Given the description of an element on the screen output the (x, y) to click on. 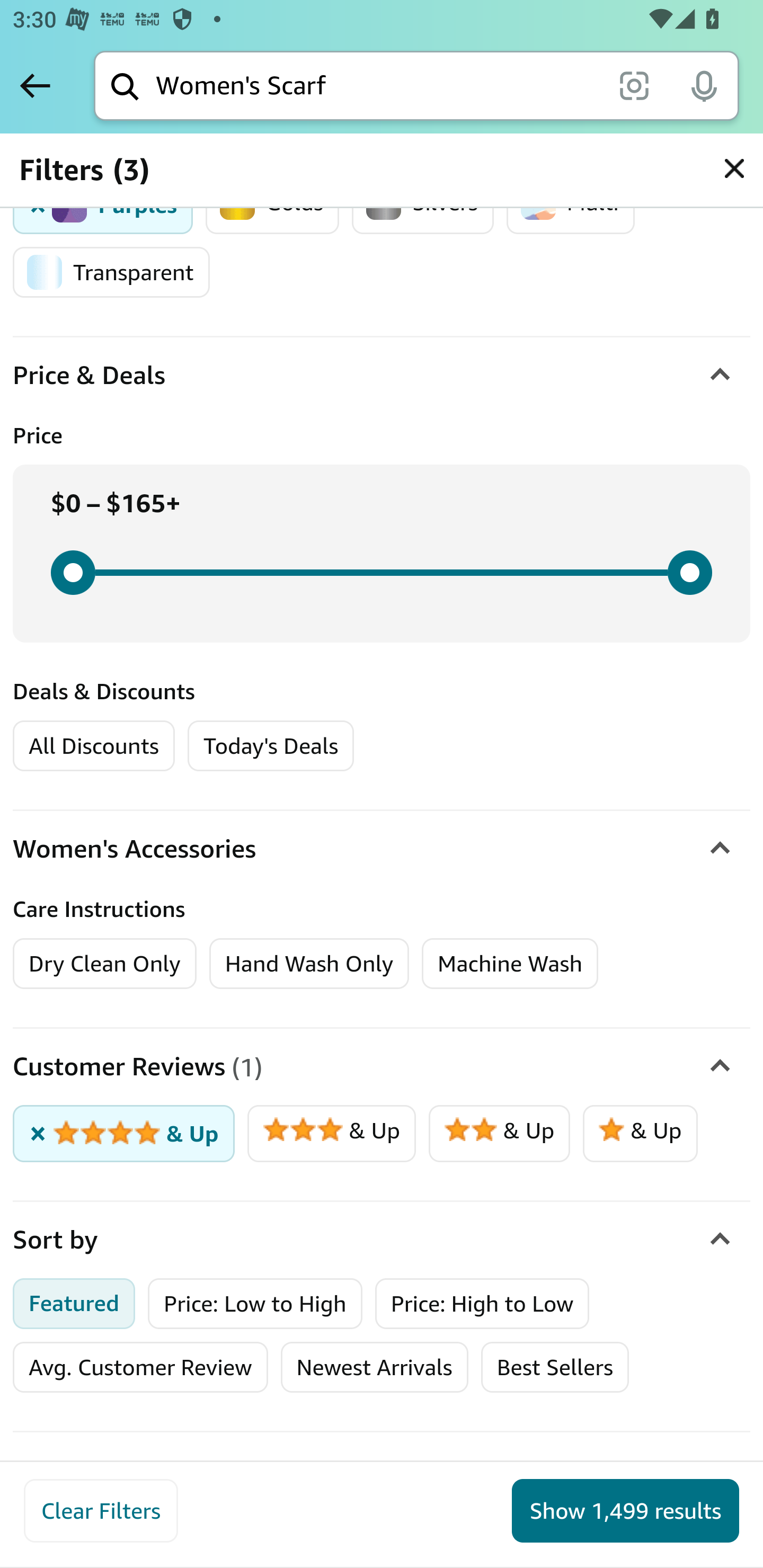
Back (35, 85)
scan it (633, 85)
Transparent Transparent Transparent Transparent (110, 272)
Price & Deals (381, 376)
All Discounts (93, 746)
Today's Deals (270, 746)
Women's Accessories (381, 849)
Dry Clean Only (104, 963)
Hand Wash Only (309, 963)
Machine Wash (509, 963)
Customer Reviews (1) (381, 1066)
× 4 Stars & Up × 4 Stars & Up (123, 1133)
3 Stars & Up (331, 1133)
2 Stars & Up (498, 1133)
1 Star & Up (639, 1133)
Sort by (381, 1240)
Price: Low to High (255, 1303)
Price: High to Low (481, 1303)
Avg. Customer Review (140, 1366)
Newest Arrivals (374, 1366)
Best Sellers (554, 1366)
Clear Filters (100, 1510)
Show 1,499 results (625, 1510)
